Given the description of an element on the screen output the (x, y) to click on. 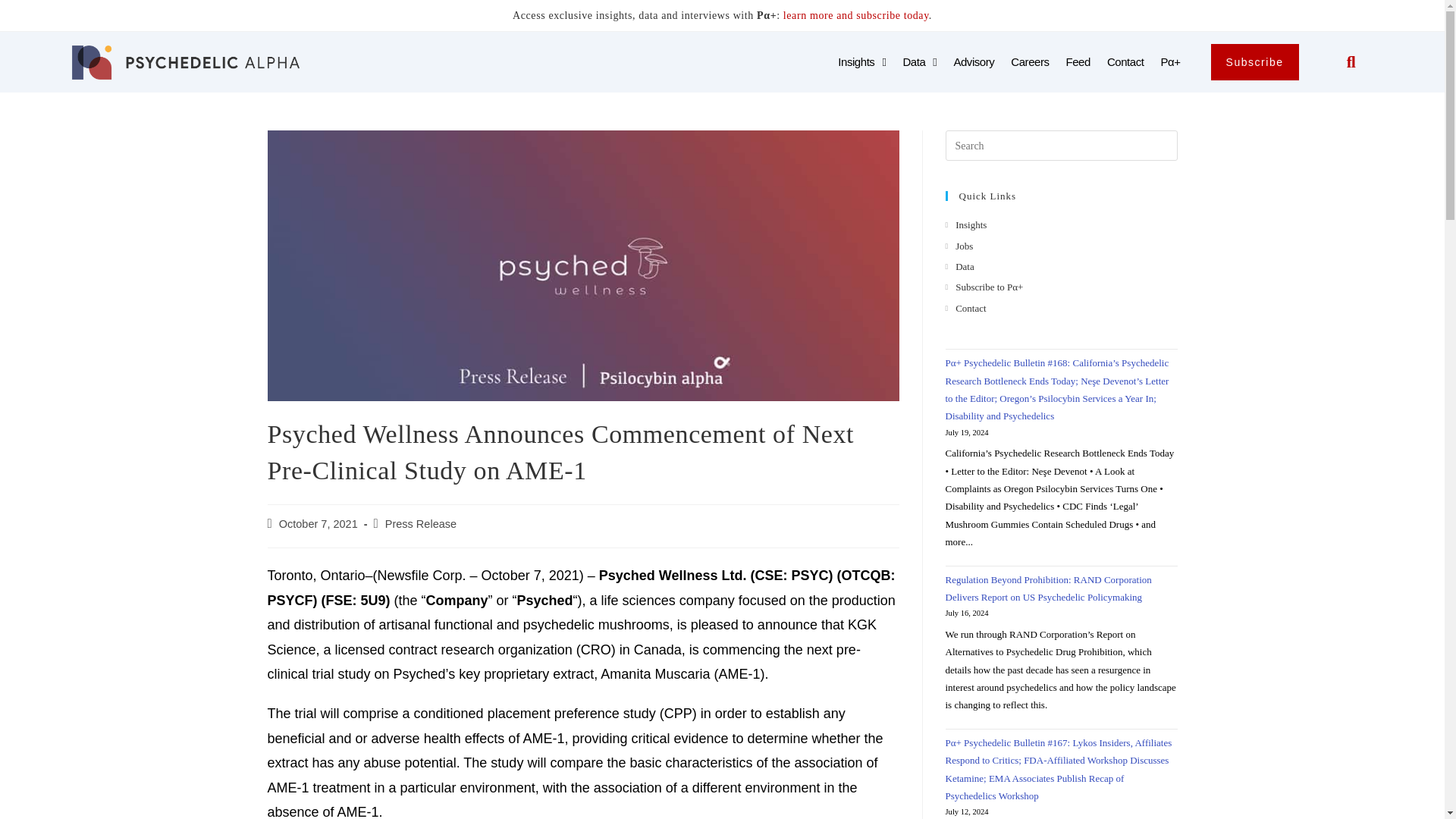
learn more and subscribe today (855, 15)
Careers (1029, 61)
Insights (861, 61)
Subscribe (1254, 62)
Data (919, 61)
Press Release (421, 523)
Advisory (973, 61)
Contact (1125, 61)
Feed (1077, 61)
